Given the description of an element on the screen output the (x, y) to click on. 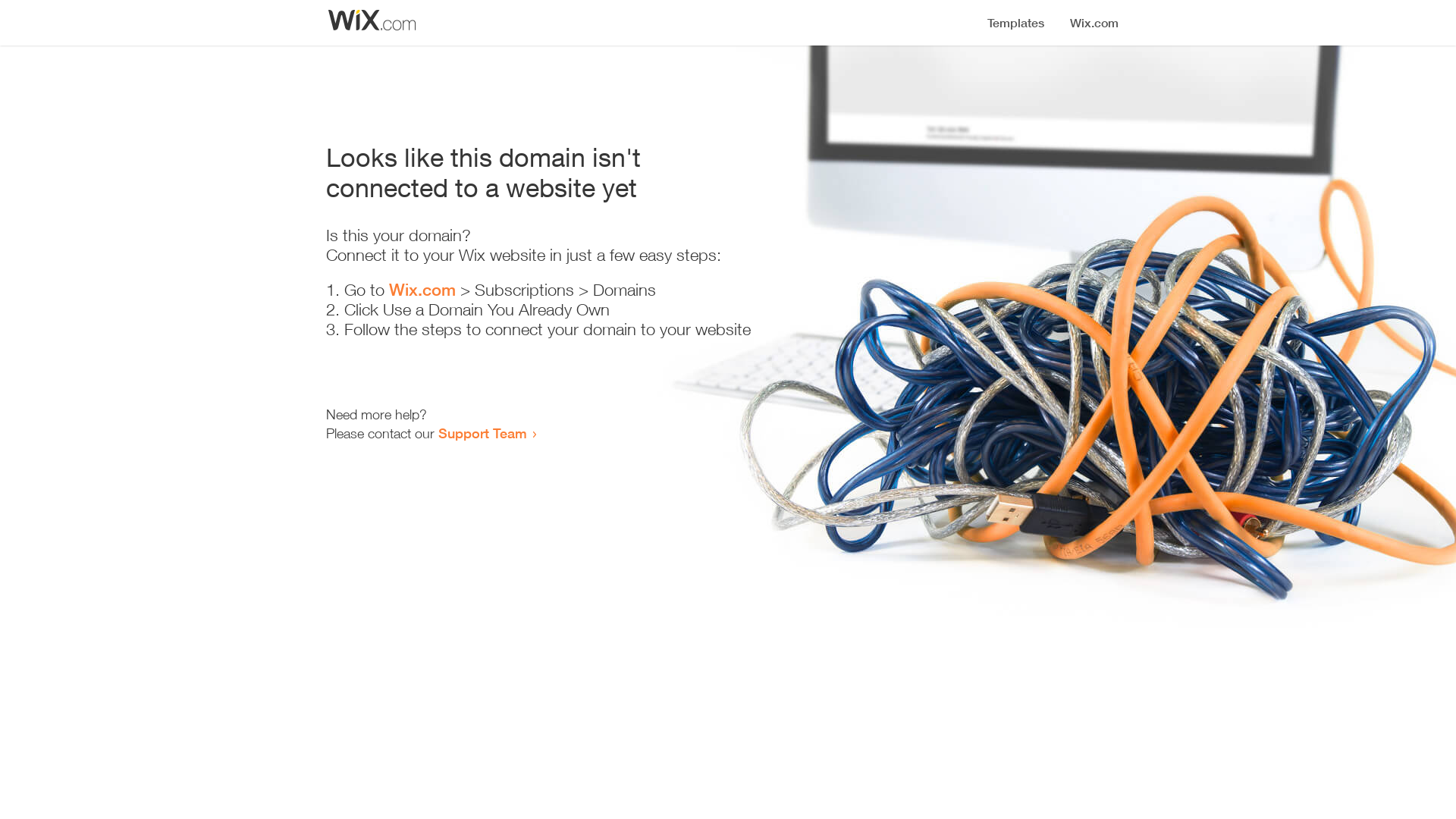
Support Team Element type: text (482, 432)
Wix.com Element type: text (422, 289)
